Given the description of an element on the screen output the (x, y) to click on. 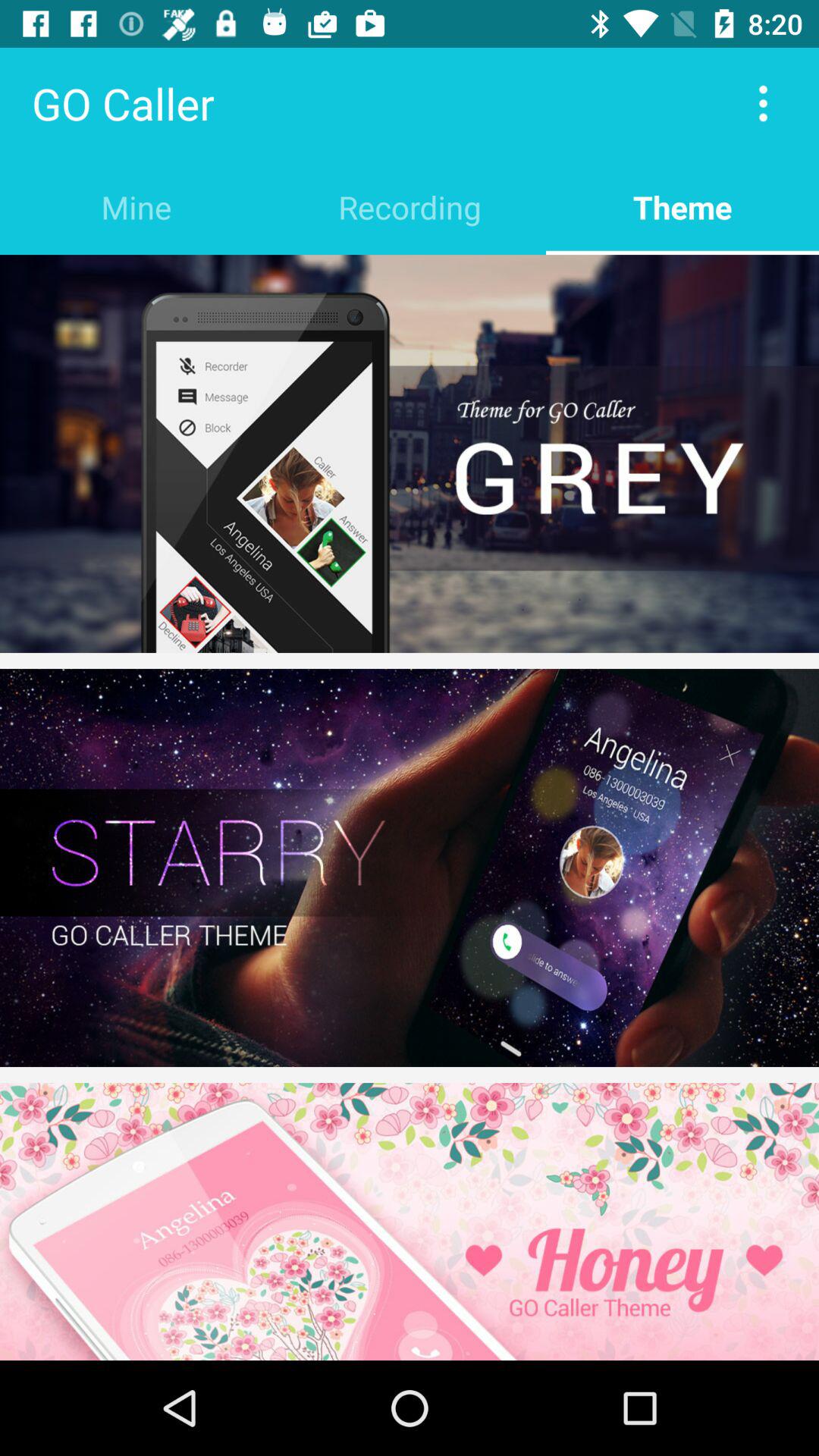
press the item to the right of the recording (682, 206)
